Given the description of an element on the screen output the (x, y) to click on. 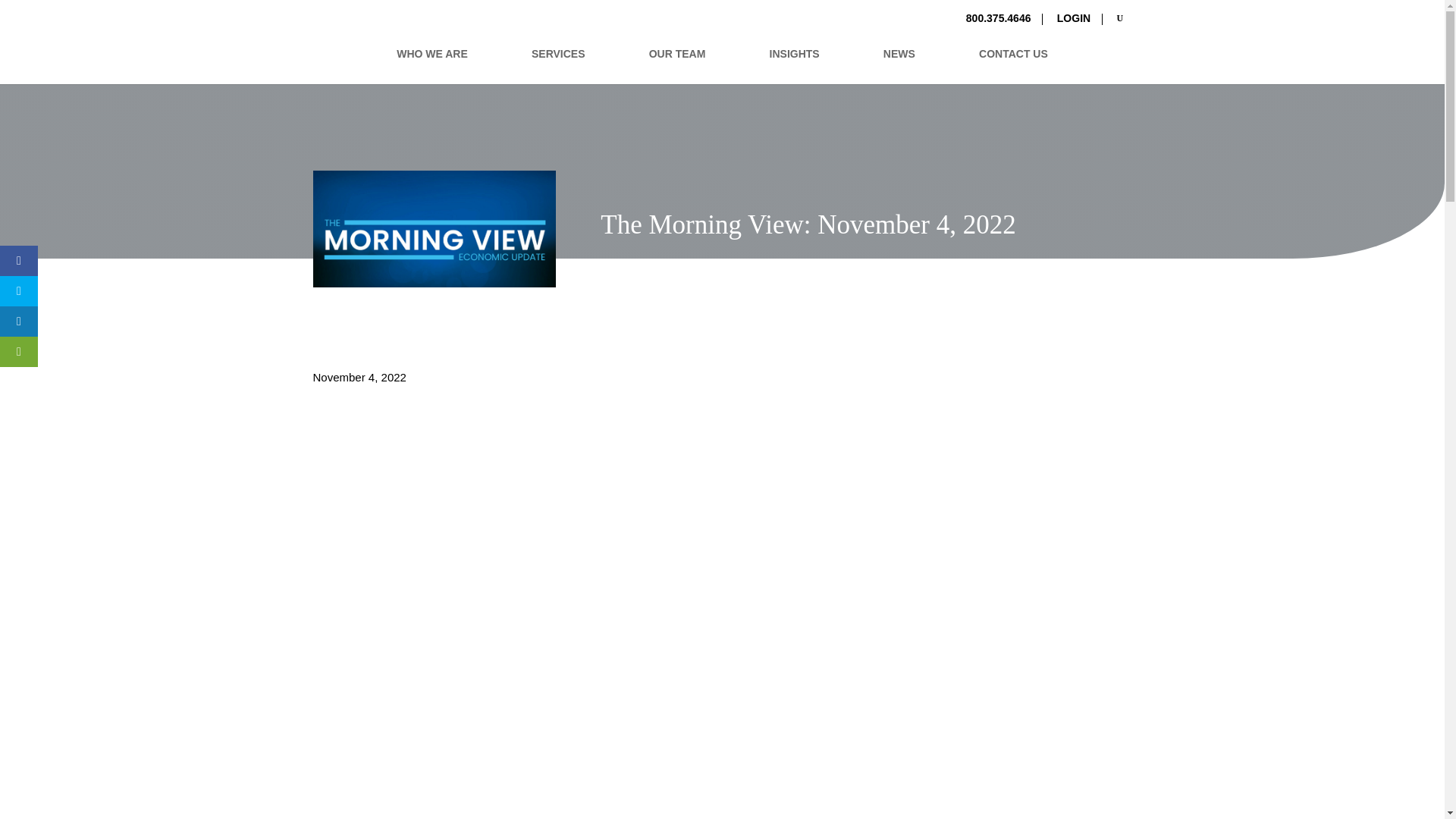
SERVICES (558, 66)
800.375.4646 (998, 22)
CONTACT US (1013, 66)
LOGIN (1073, 22)
OUR TEAM (677, 66)
WHO WE ARE (431, 66)
INSIGHTS (794, 66)
NEWS (899, 66)
